Given the description of an element on the screen output the (x, y) to click on. 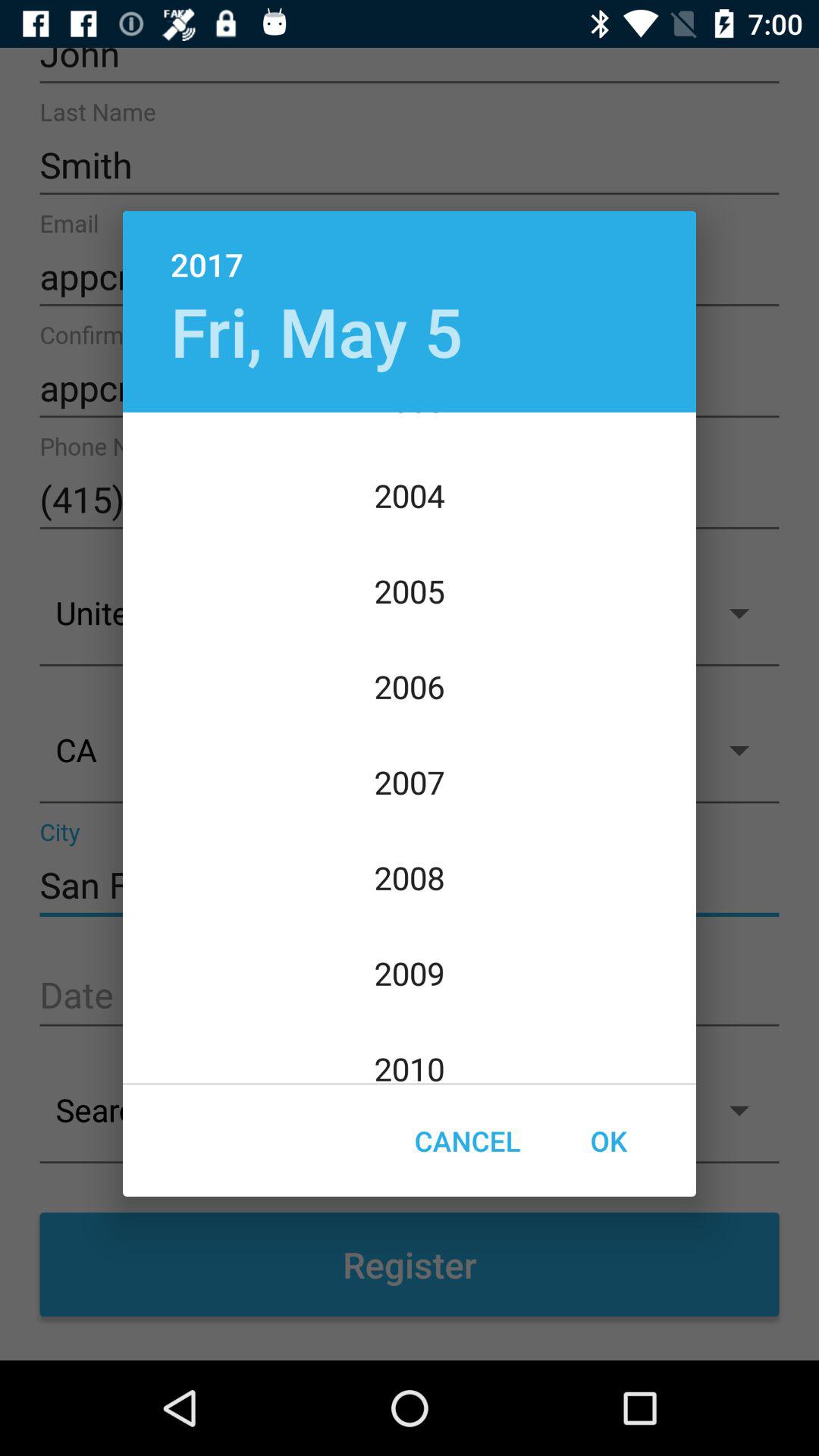
jump to 2017 icon (409, 248)
